Given the description of an element on the screen output the (x, y) to click on. 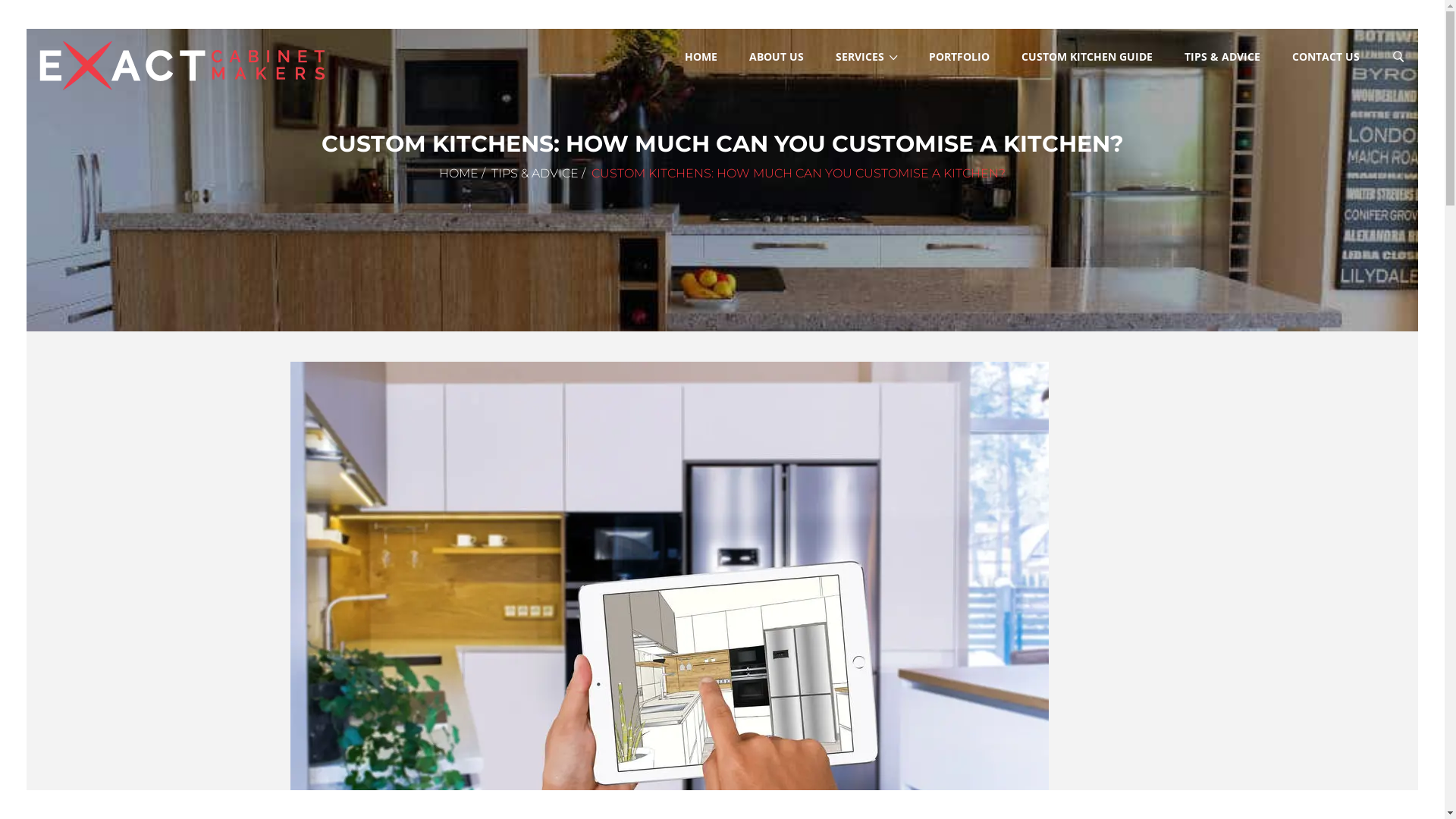
HOME Element type: text (458, 173)
CUSTOM KITCHEN GUIDE Element type: text (1086, 56)
TIPS & ADVICE Element type: text (1222, 56)
TIPS & ADVICE Element type: text (534, 173)
CONTACT US Element type: text (1325, 56)
HOME Element type: text (700, 56)
PORTFOLIO Element type: text (959, 56)
ABOUT US Element type: text (776, 56)
SERVICES Element type: text (866, 57)
